Given the description of an element on the screen output the (x, y) to click on. 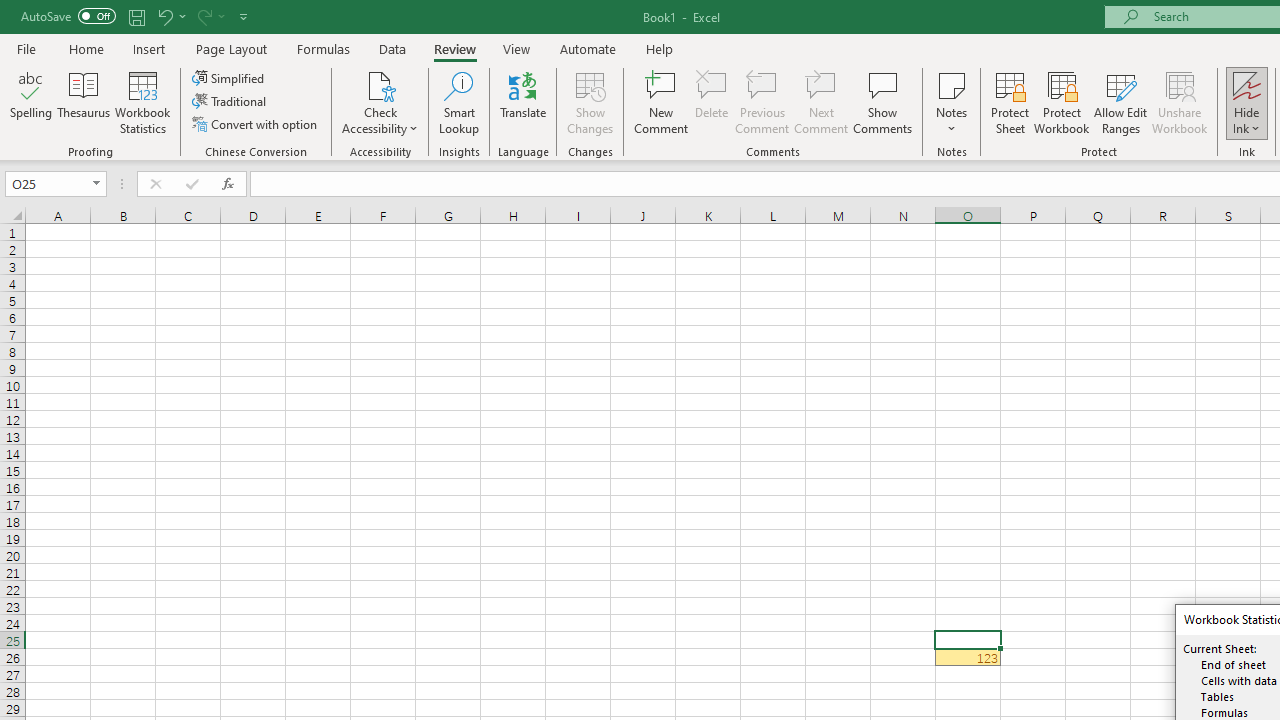
Delete (712, 102)
Show Comments (883, 102)
Unshare Workbook (1179, 102)
Traditional (230, 101)
Allow Edit Ranges (1120, 102)
Workbook Statistics (142, 102)
Spelling... (31, 102)
Protect Sheet... (1010, 102)
